Given the description of an element on the screen output the (x, y) to click on. 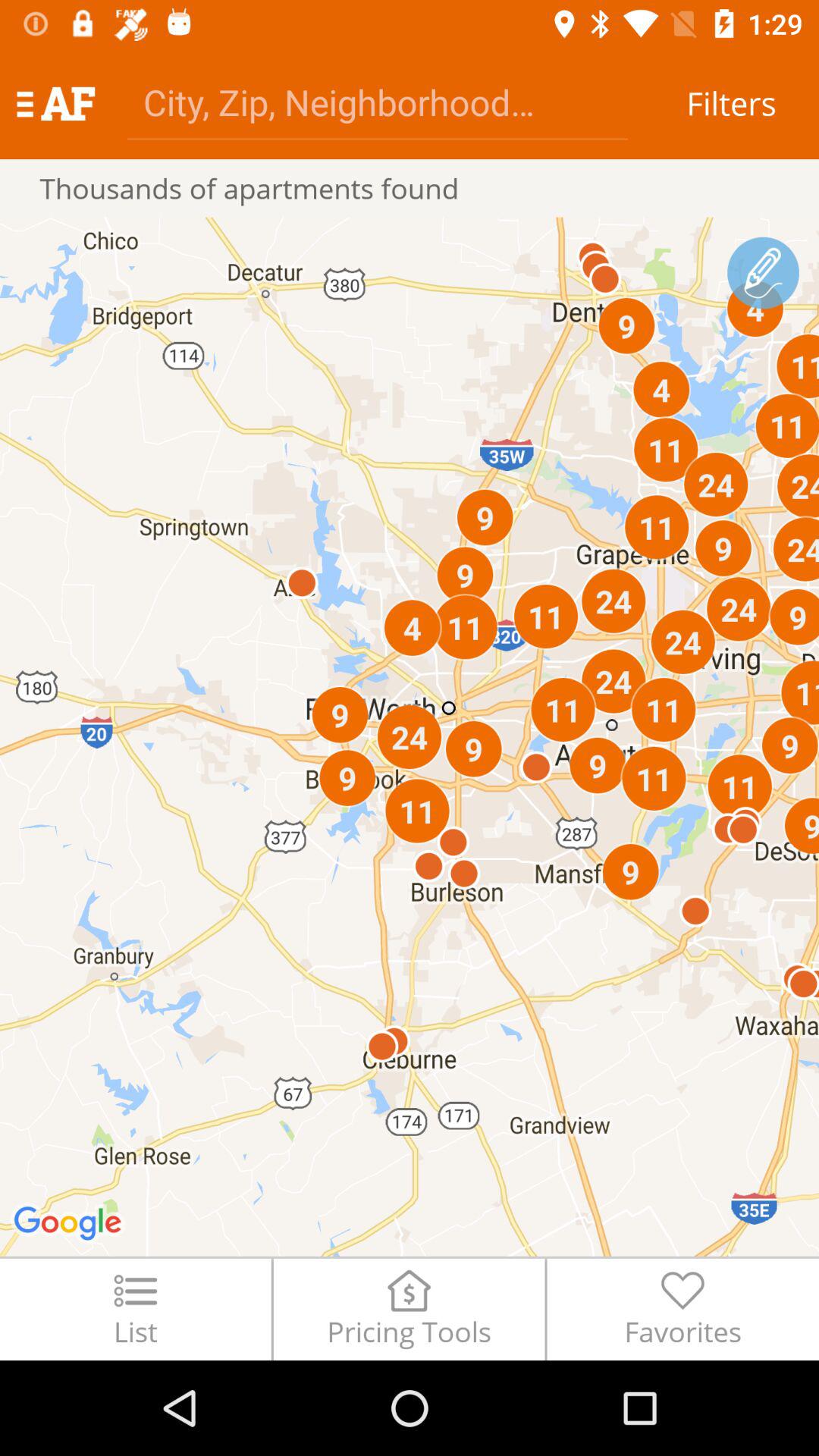
turn off the favorites at the bottom right corner (683, 1309)
